Given the description of an element on the screen output the (x, y) to click on. 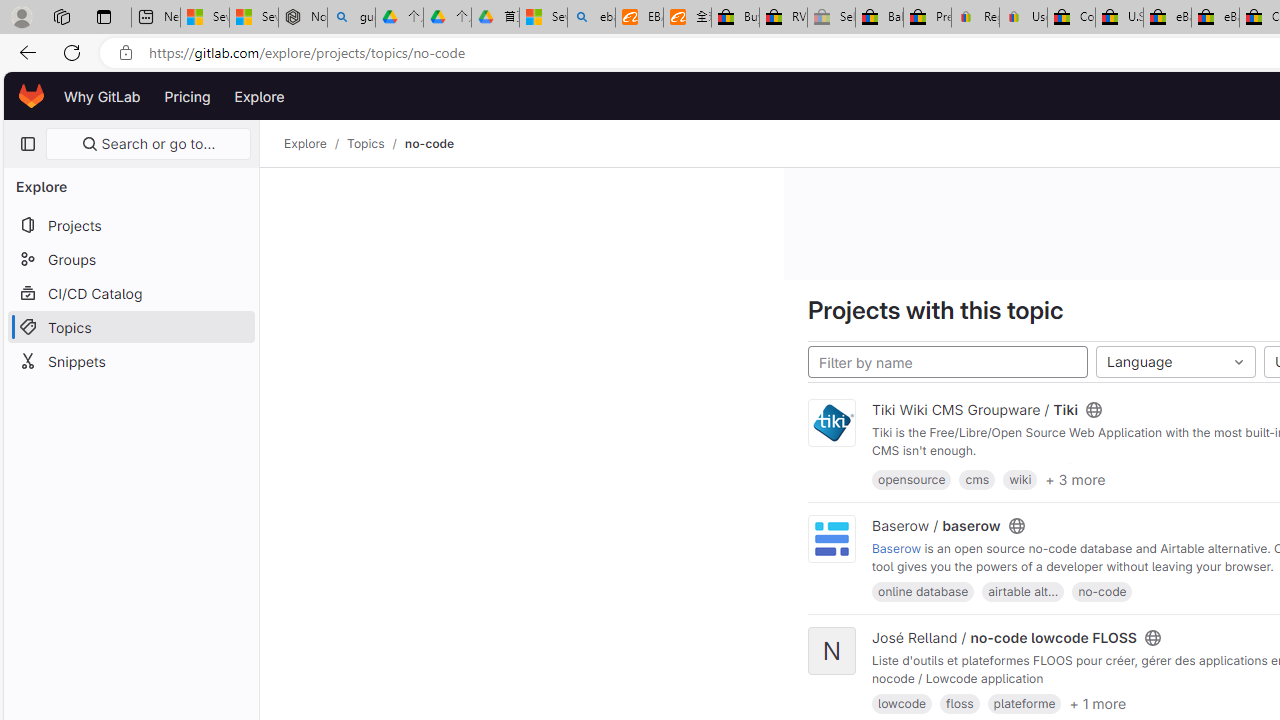
CI/CD Catalog (130, 292)
lowcode (901, 703)
opensource (911, 479)
Projects (130, 224)
Baserow (896, 548)
Why GitLab (102, 95)
Topics (130, 326)
Homepage (31, 95)
Press Room - eBay Inc. (927, 17)
Language (1175, 362)
+ 3 more (1074, 478)
CI/CD Catalog (130, 292)
Class: s16 (1152, 638)
eBay Inc. Reports Third Quarter 2023 Results (1215, 17)
